Given the description of an element on the screen output the (x, y) to click on. 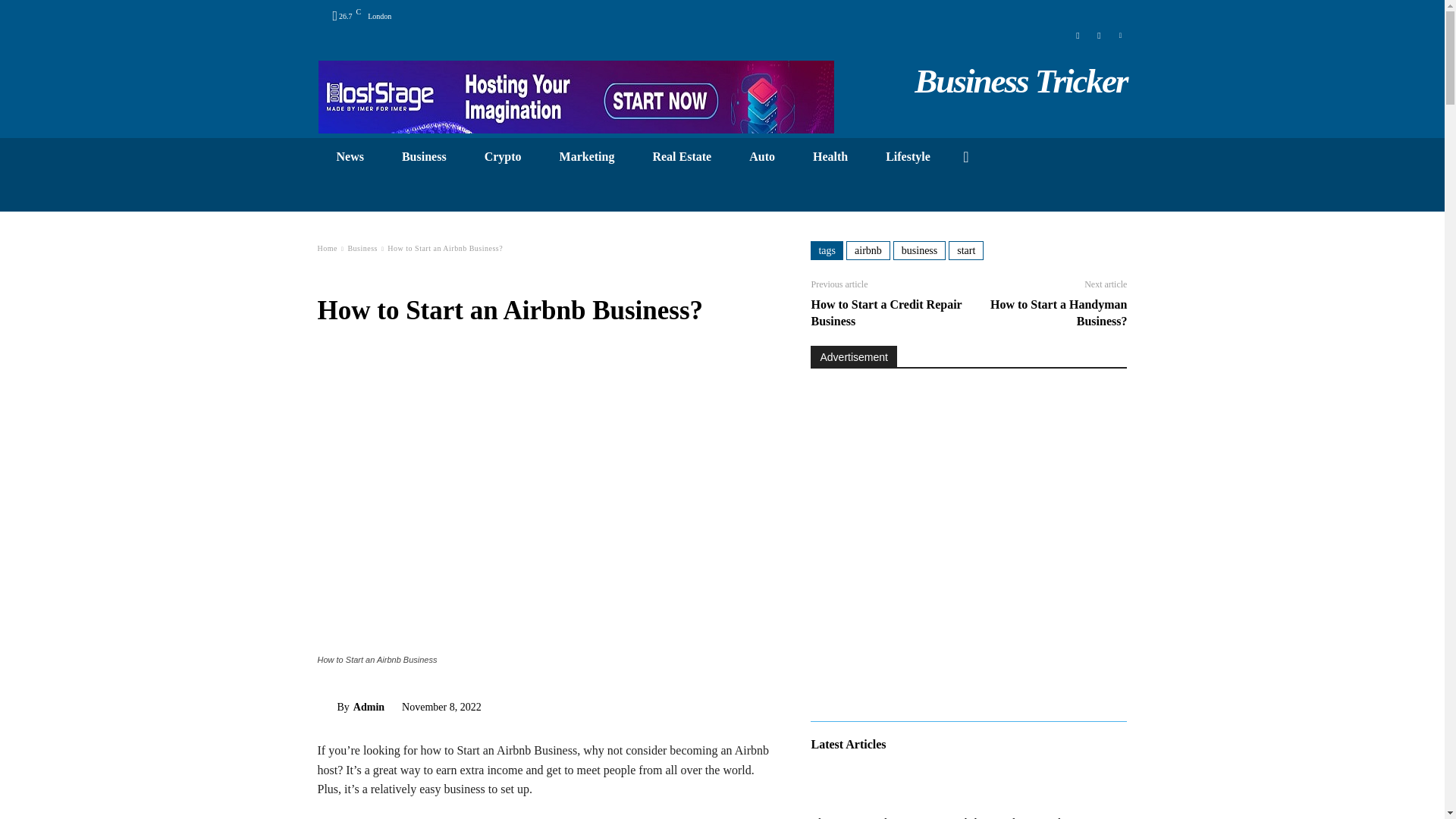
Facebook (1077, 33)
Instagram (1098, 33)
Real Estate (681, 156)
Business (423, 156)
Health (829, 156)
Crypto (502, 156)
Marketing (586, 156)
News (349, 156)
Auto (761, 156)
Business Tricker (1020, 80)
Lifestyle (907, 156)
View all posts in Business (362, 248)
Linkedin (1119, 33)
Admin (326, 707)
